Given the description of an element on the screen output the (x, y) to click on. 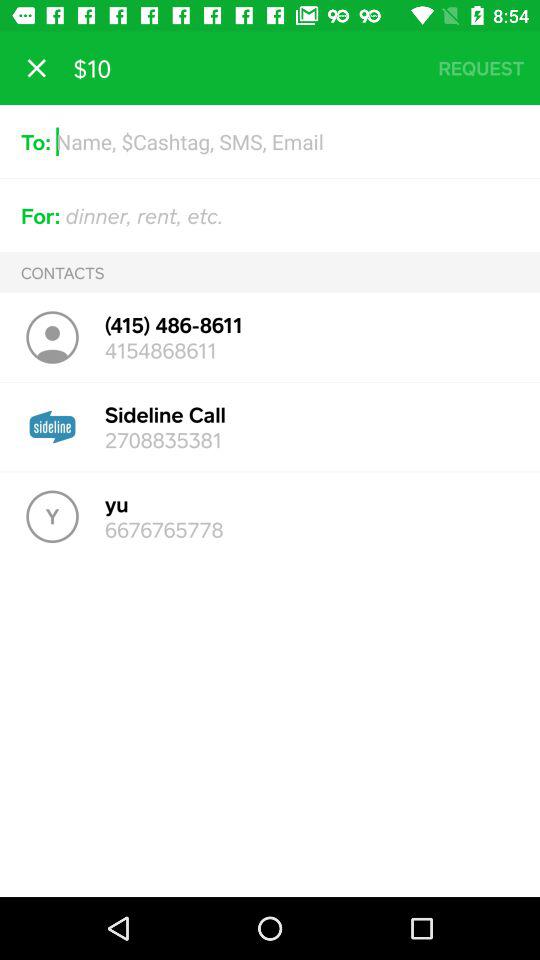
click on icon on the bottom left corner (51, 516)
click on the text field which is next to the for (291, 214)
select the icon which is left side of the sideline call (51, 427)
